Given the description of an element on the screen output the (x, y) to click on. 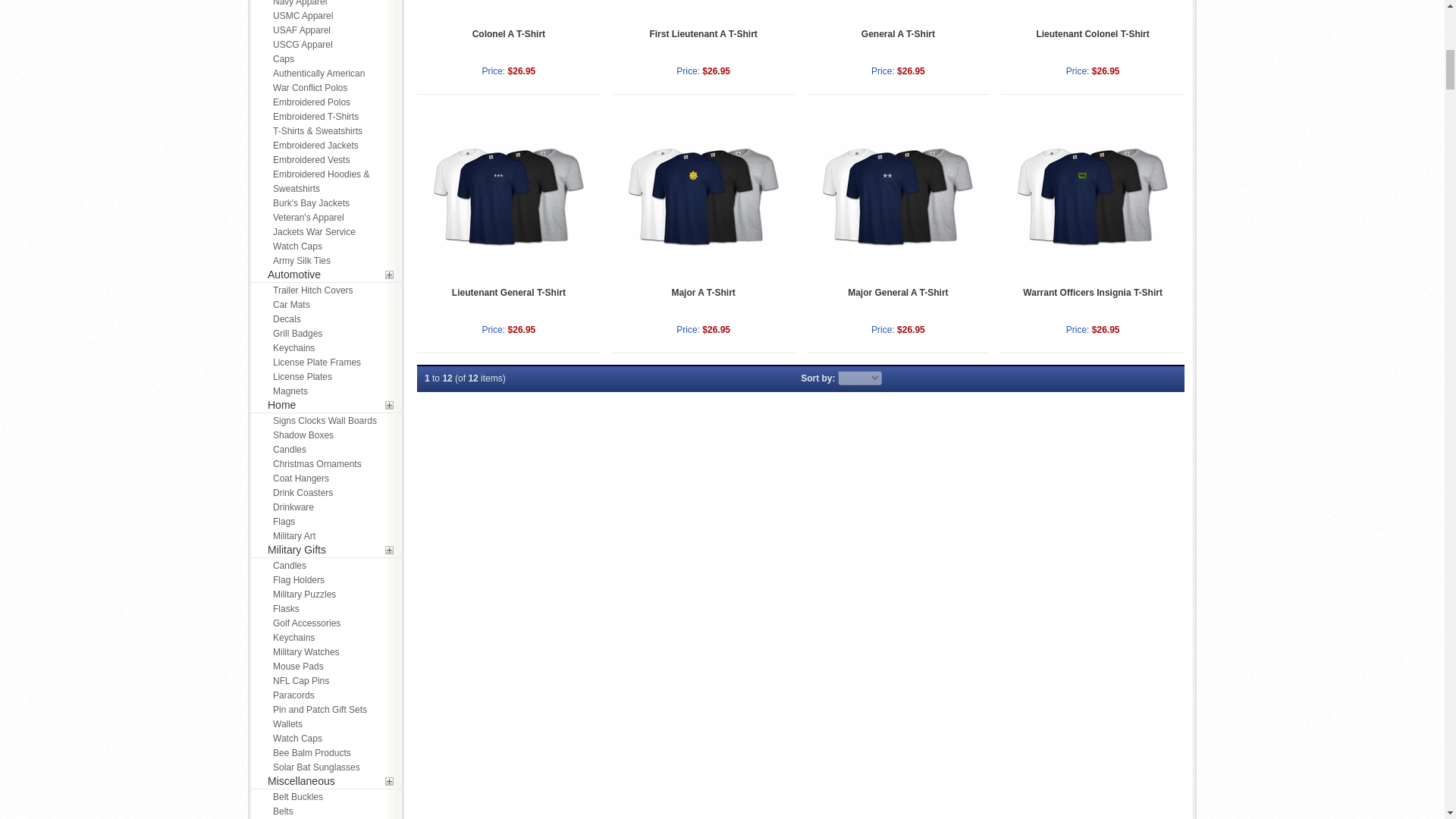
Colonel A T-Shirt (507, 7)
Lieutenant Colonel T-Shirt (1093, 7)
Warrant Officers Insignia T-Shirt (1093, 196)
Major A T-Shirt (702, 196)
Major General A T-Shirt (898, 196)
First Lieutenant A T-Shirt (702, 7)
General A T-Shirt (898, 7)
Lieutenant General T-Shirt (507, 196)
